Given the description of an element on the screen output the (x, y) to click on. 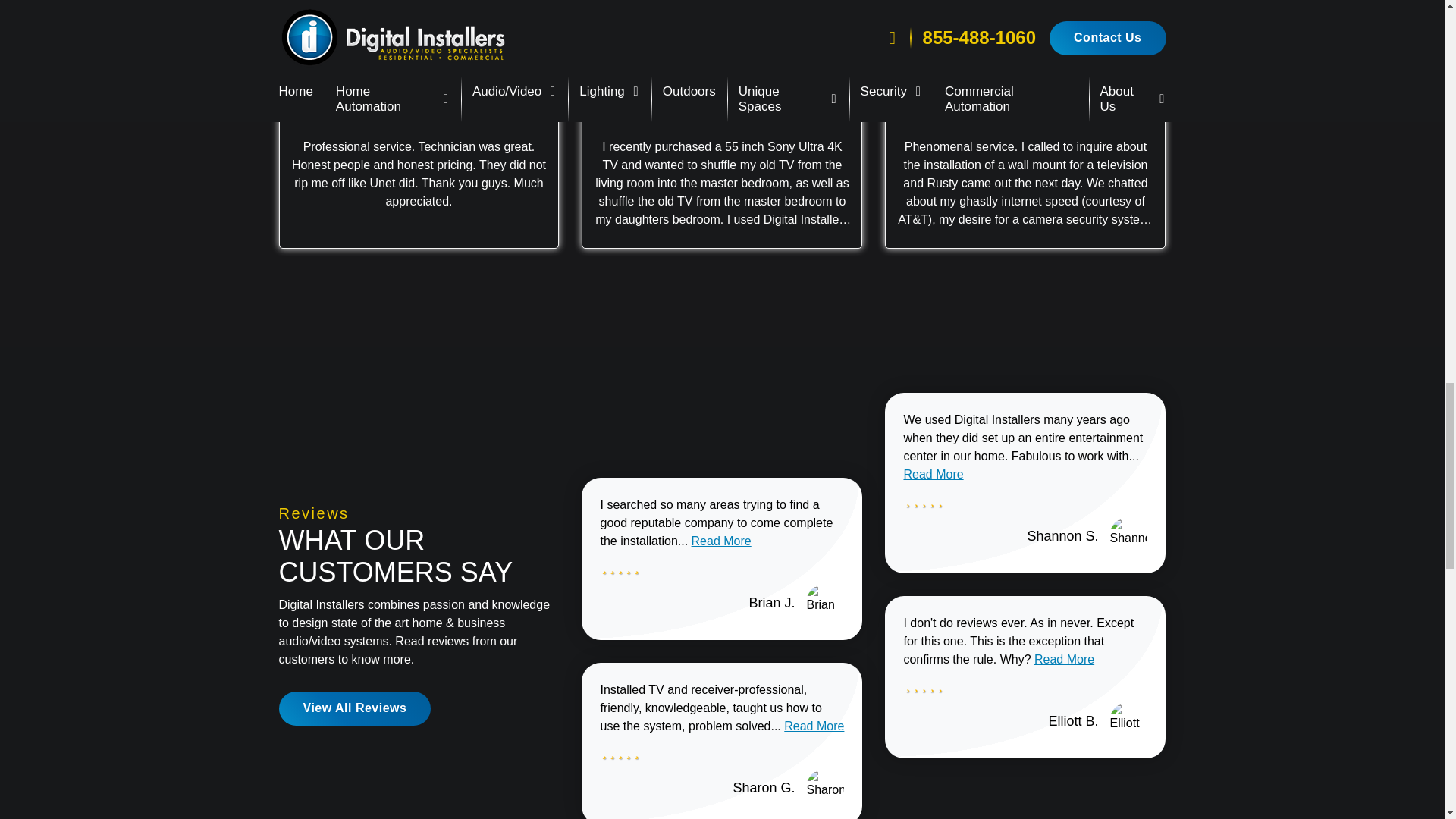
This review was posted on Yelp (1050, 90)
This review was posted on Yelp (443, 90)
This review was posted on Yelp (747, 90)
